Given the description of an element on the screen output the (x, y) to click on. 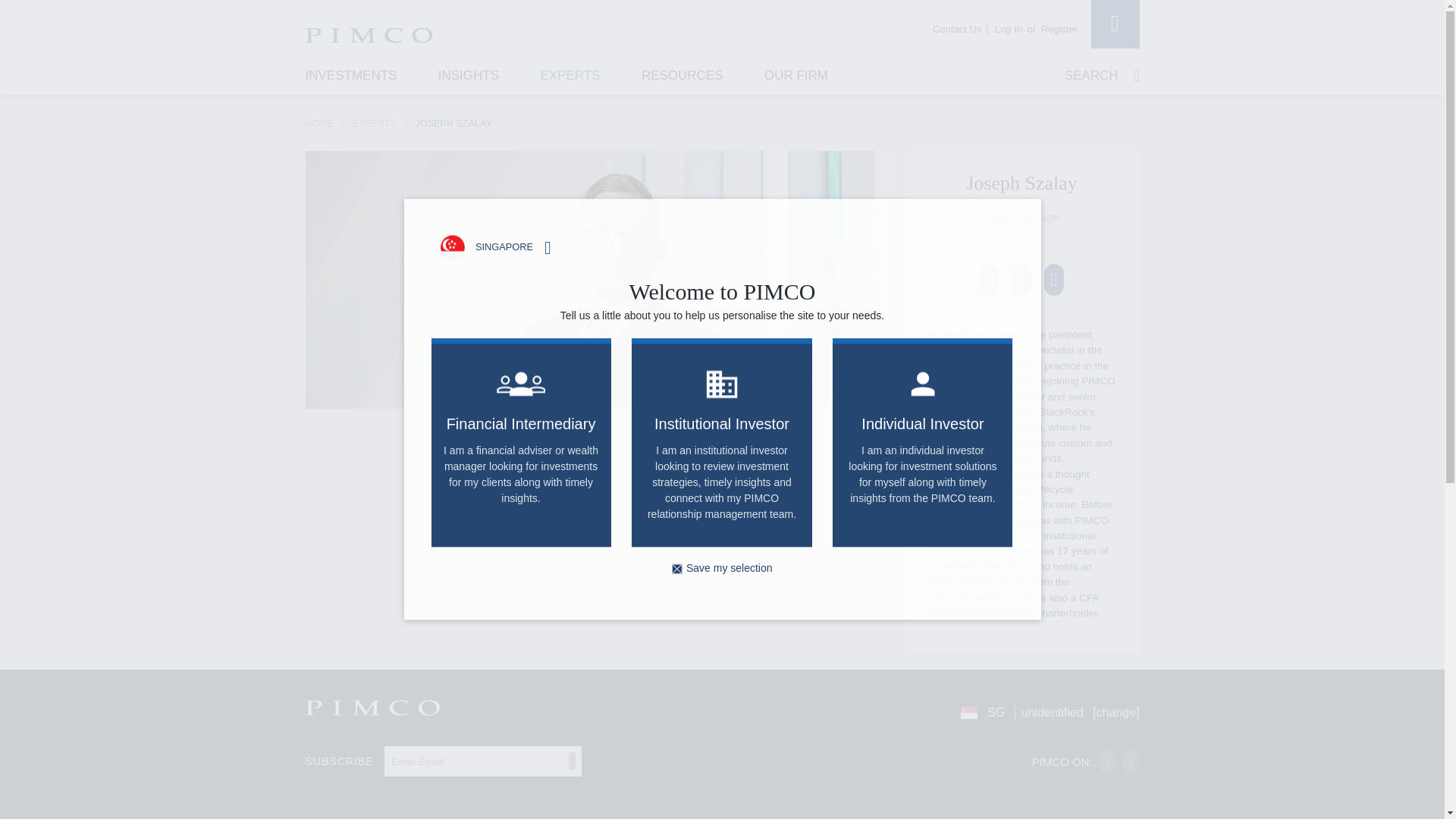
Log In (1008, 29)
Register (1058, 29)
INVESTMENTS (350, 78)
Contact Us (957, 29)
on (676, 568)
